Given the description of an element on the screen output the (x, y) to click on. 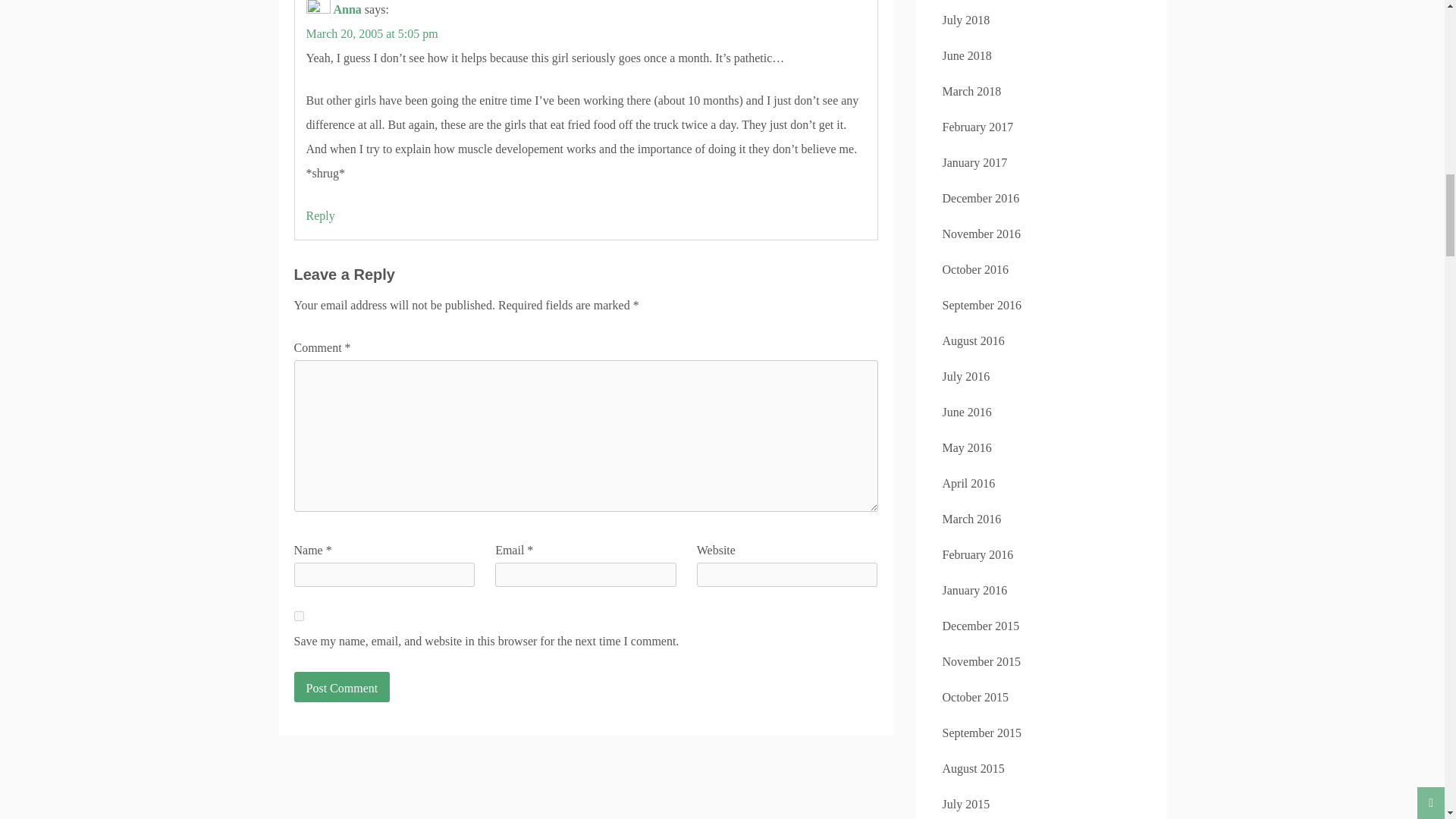
Post Comment (342, 686)
March 20, 2005 at 5:05 pm (371, 33)
Post Comment (342, 686)
Anna (347, 9)
Reply (319, 215)
yes (299, 615)
